Given the description of an element on the screen output the (x, y) to click on. 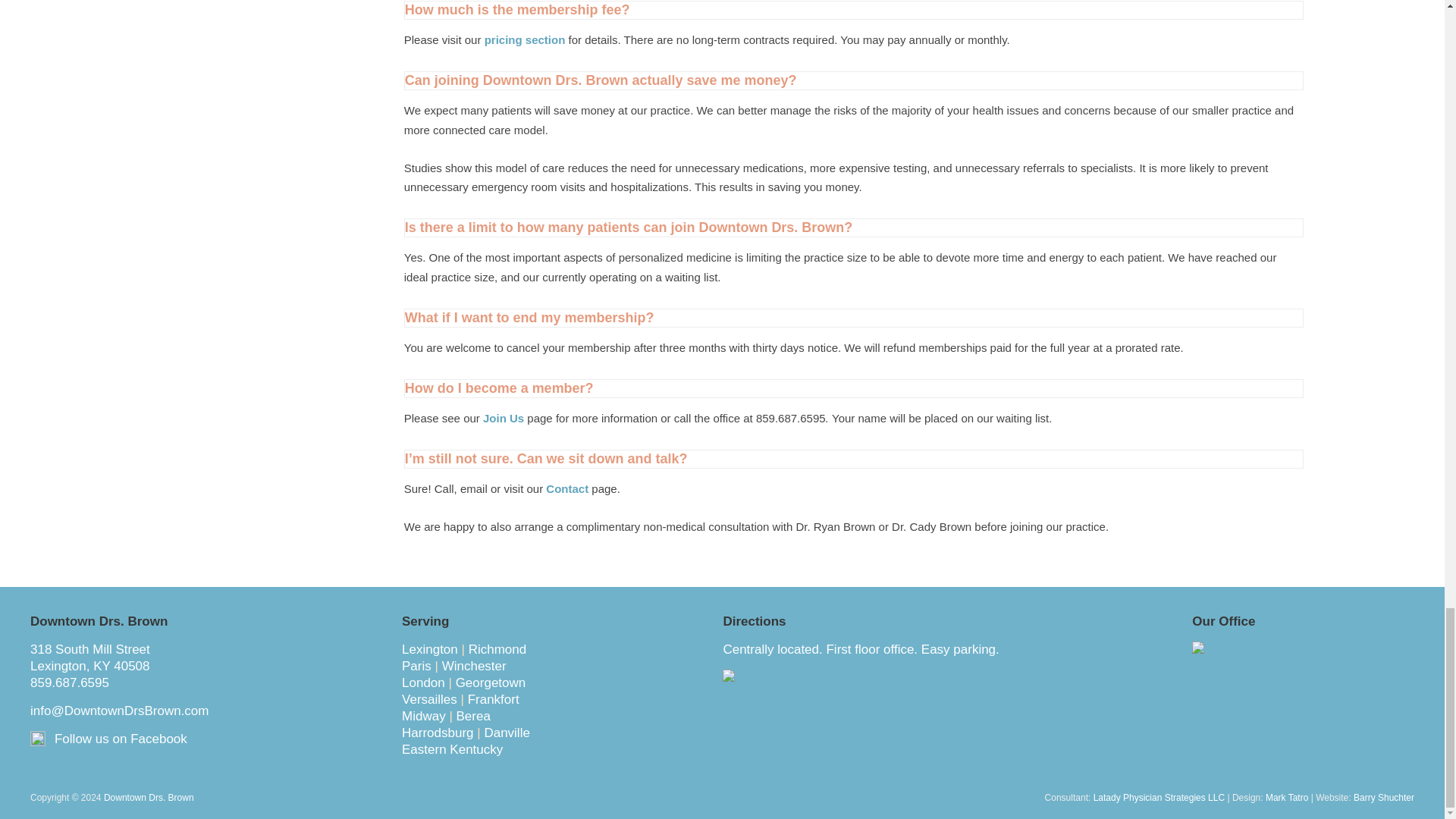
Centrally located. First floor office. Easy parking. (939, 662)
859.687.6595 (69, 682)
Join Us (503, 418)
Downtown Drs. Brown (148, 797)
Contact (567, 488)
pricing section (525, 39)
Downtown Drs. Brown (148, 797)
Follow us on Facebook (121, 739)
